Given the description of an element on the screen output the (x, y) to click on. 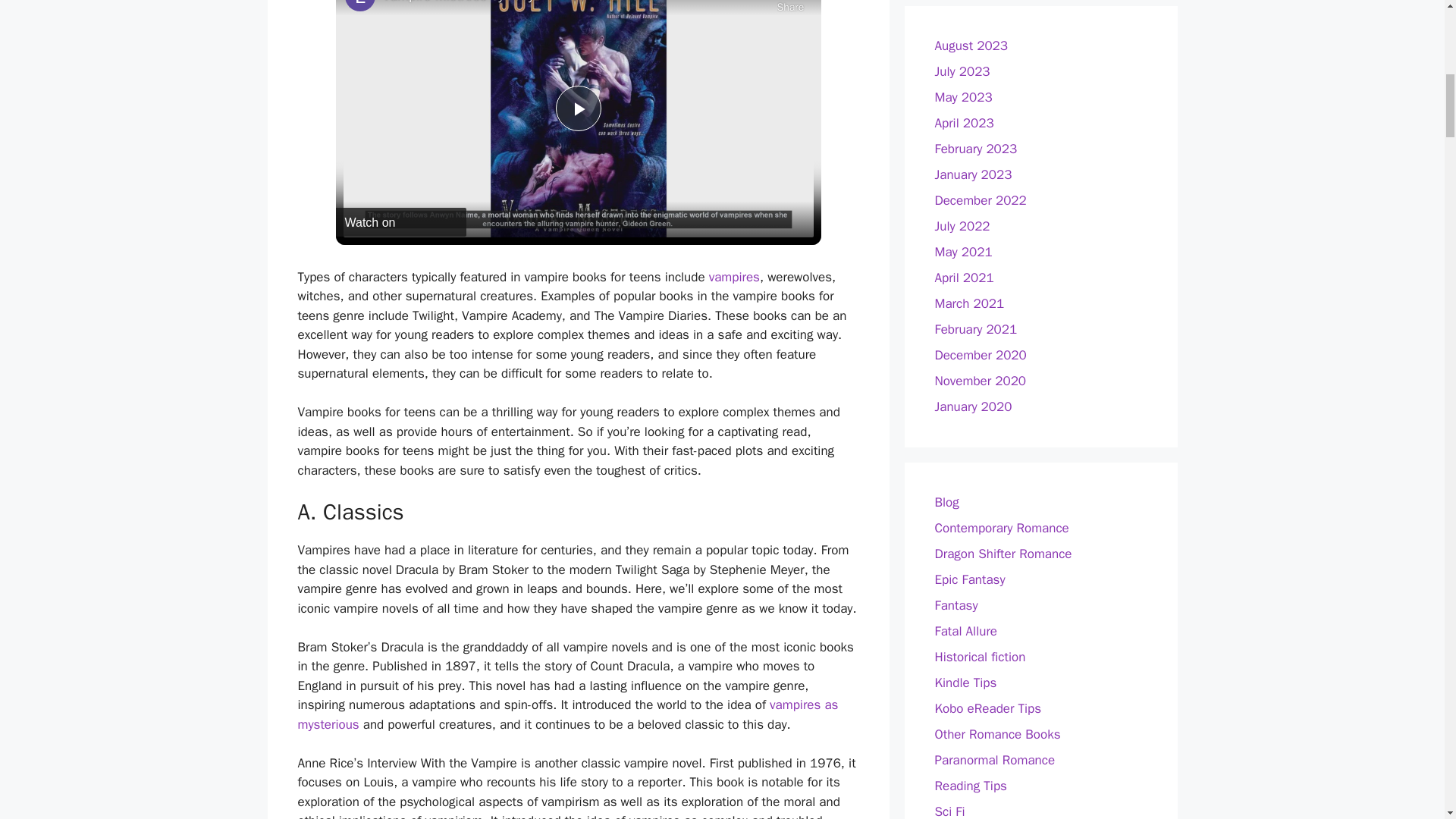
share (789, 7)
Play Video (576, 108)
Scroll back to top (1406, 720)
